Given the description of an element on the screen output the (x, y) to click on. 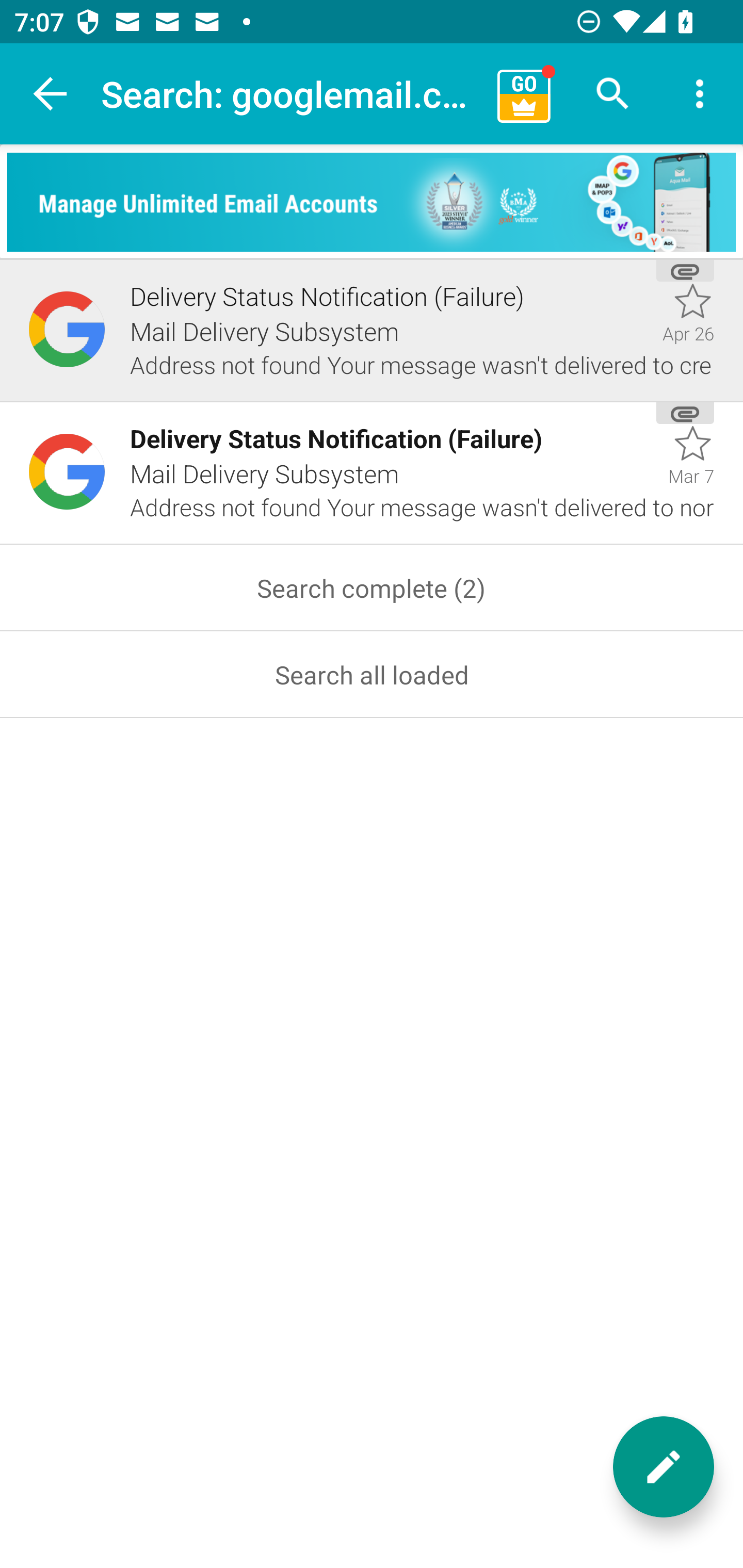
Navigate up (50, 93)
Search (612, 93)
More options (699, 93)
Search complete (2) (371, 587)
Search all loaded (371, 674)
New message (663, 1466)
